Given the description of an element on the screen output the (x, y) to click on. 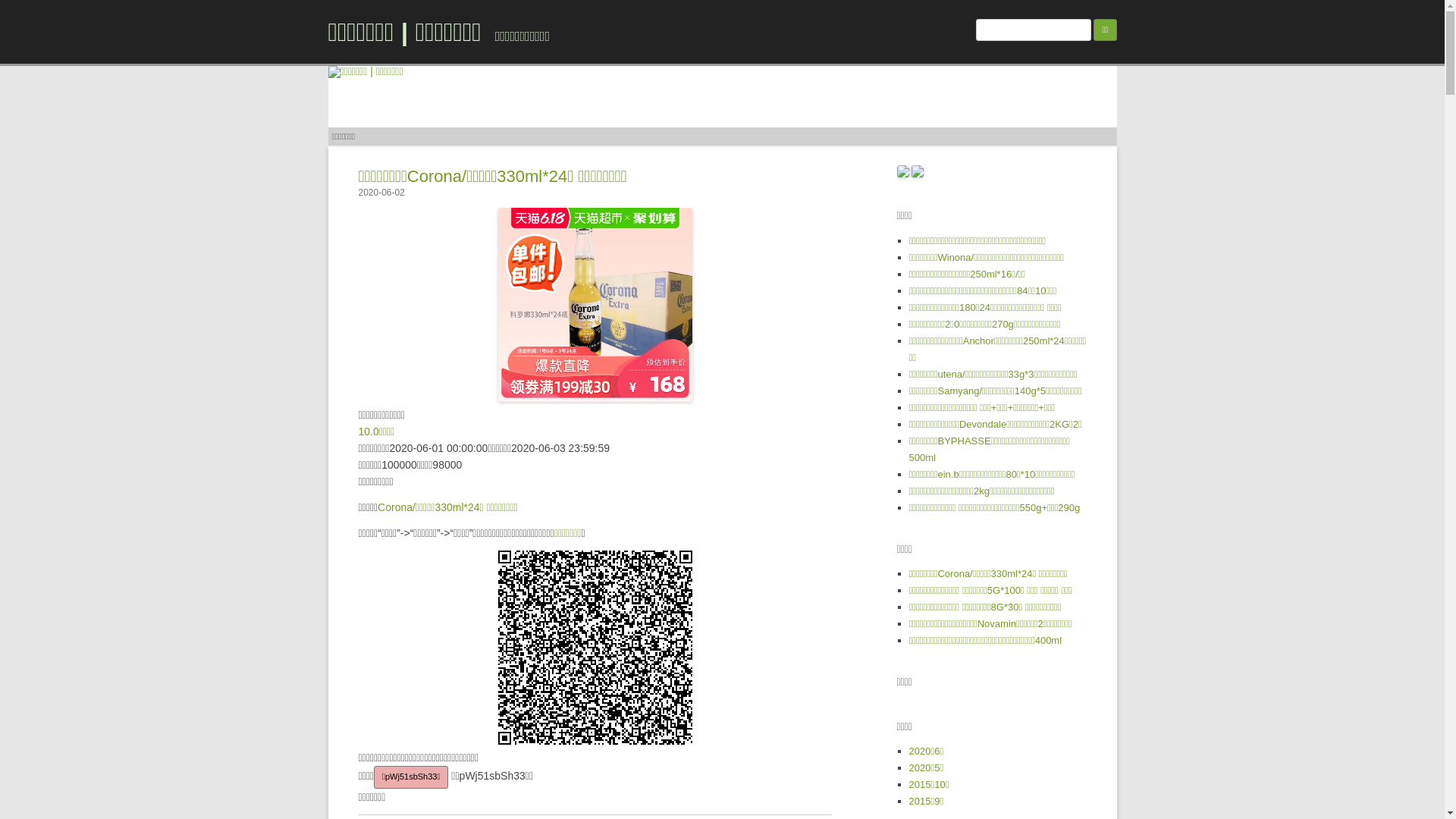
Skip to content Element type: text (756, 132)
2020-06-02 Element type: text (380, 192)
